Given the description of an element on the screen output the (x, y) to click on. 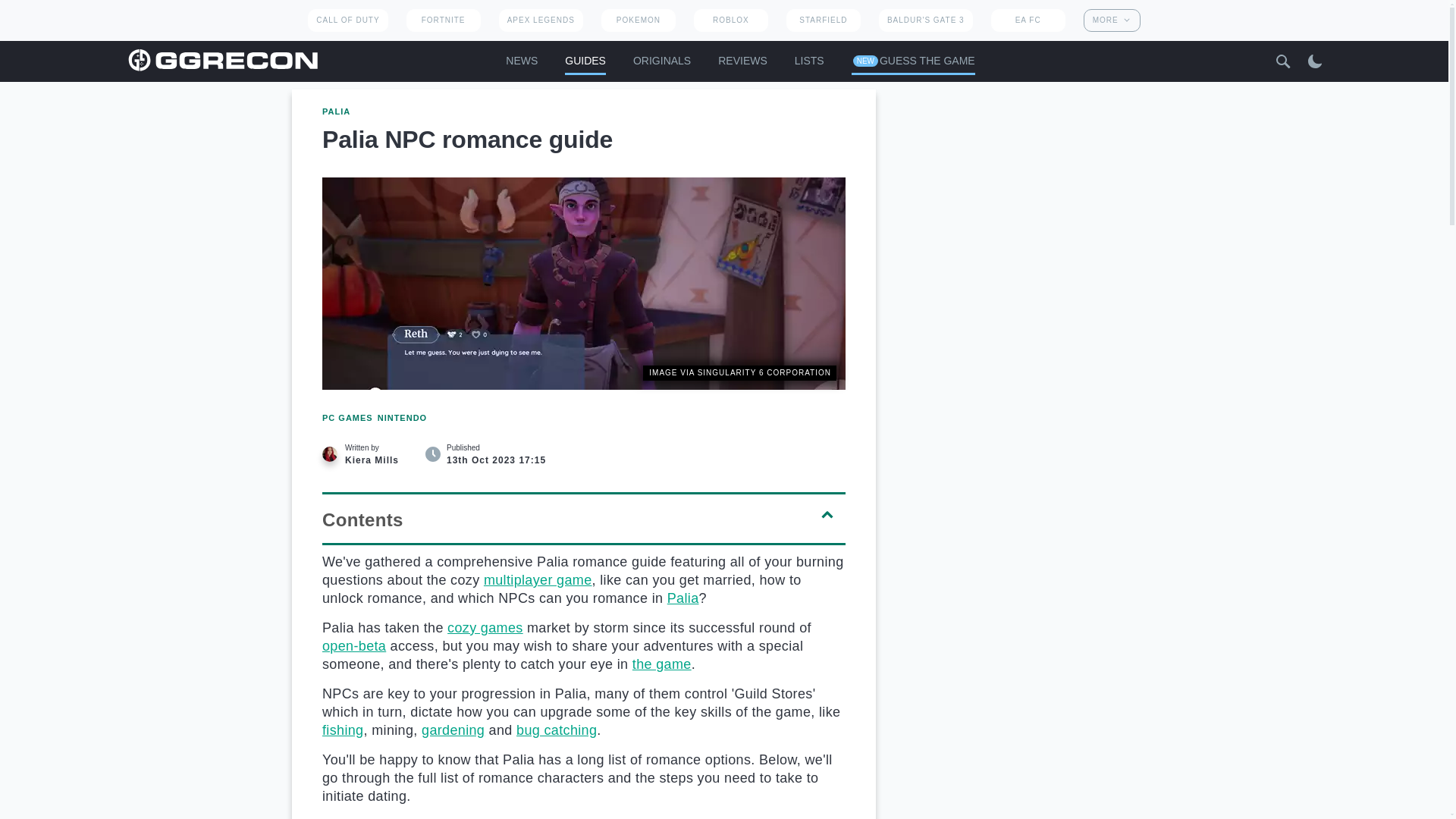
MORE (1111, 20)
STARFIELD (823, 20)
authorlink (369, 454)
Palia (682, 598)
Kiera Mills (329, 453)
BALDUR'S GATE 3 (925, 20)
FORTNITE (443, 20)
ROBLOX (731, 20)
CALL OF DUTY (347, 20)
EA FC (1028, 20)
